Given the description of an element on the screen output the (x, y) to click on. 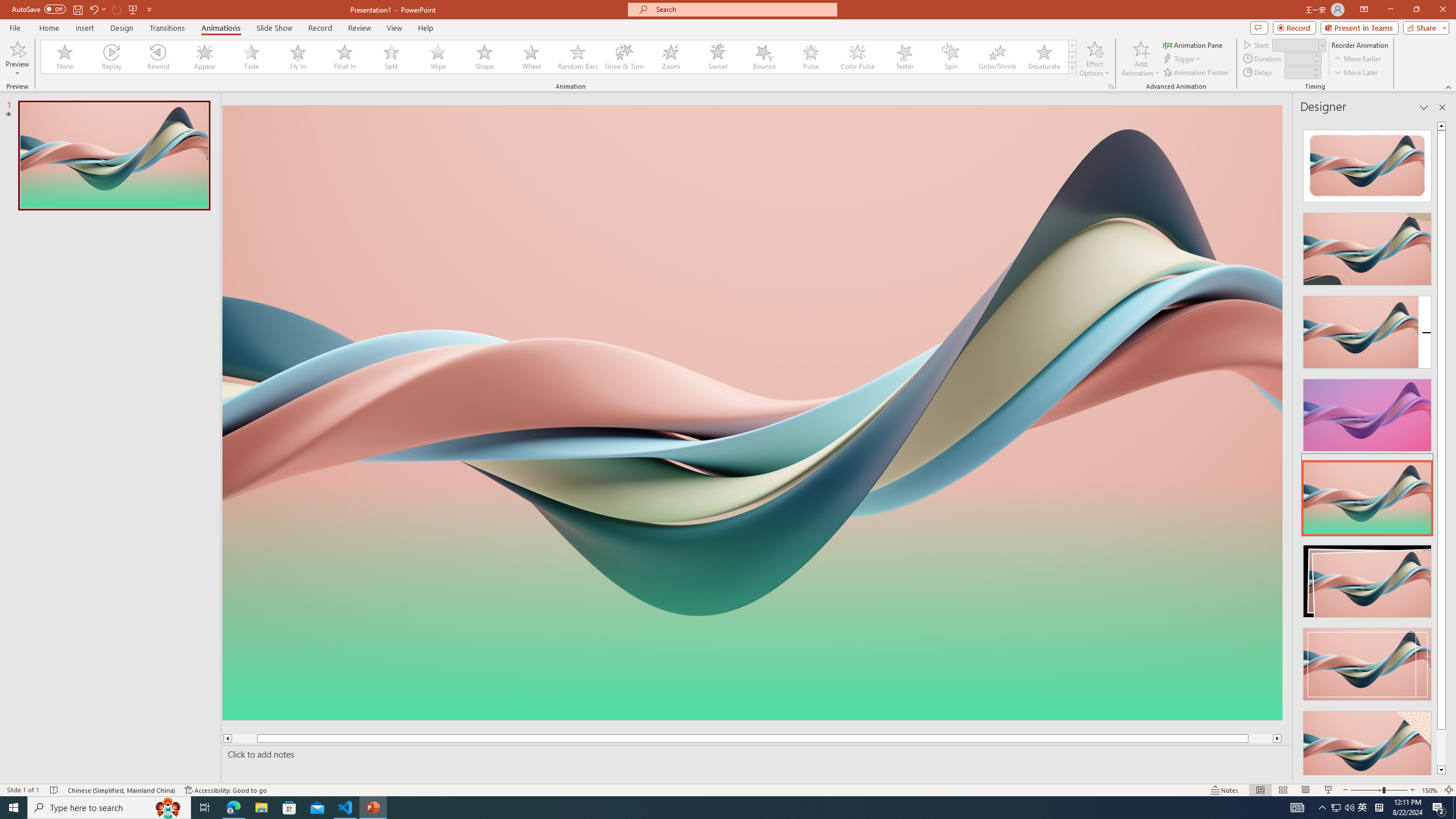
Class: NetUIScrollBar (1441, 447)
Effect Options (1094, 58)
Fade (251, 56)
Preview (17, 58)
More (1315, 69)
Wipe (437, 56)
Animation Pane (1193, 44)
Grow & Turn (624, 56)
Animation Styles (1071, 67)
Design Idea (1366, 743)
Page down (1441, 747)
Zoom (1379, 790)
